Given the description of an element on the screen output the (x, y) to click on. 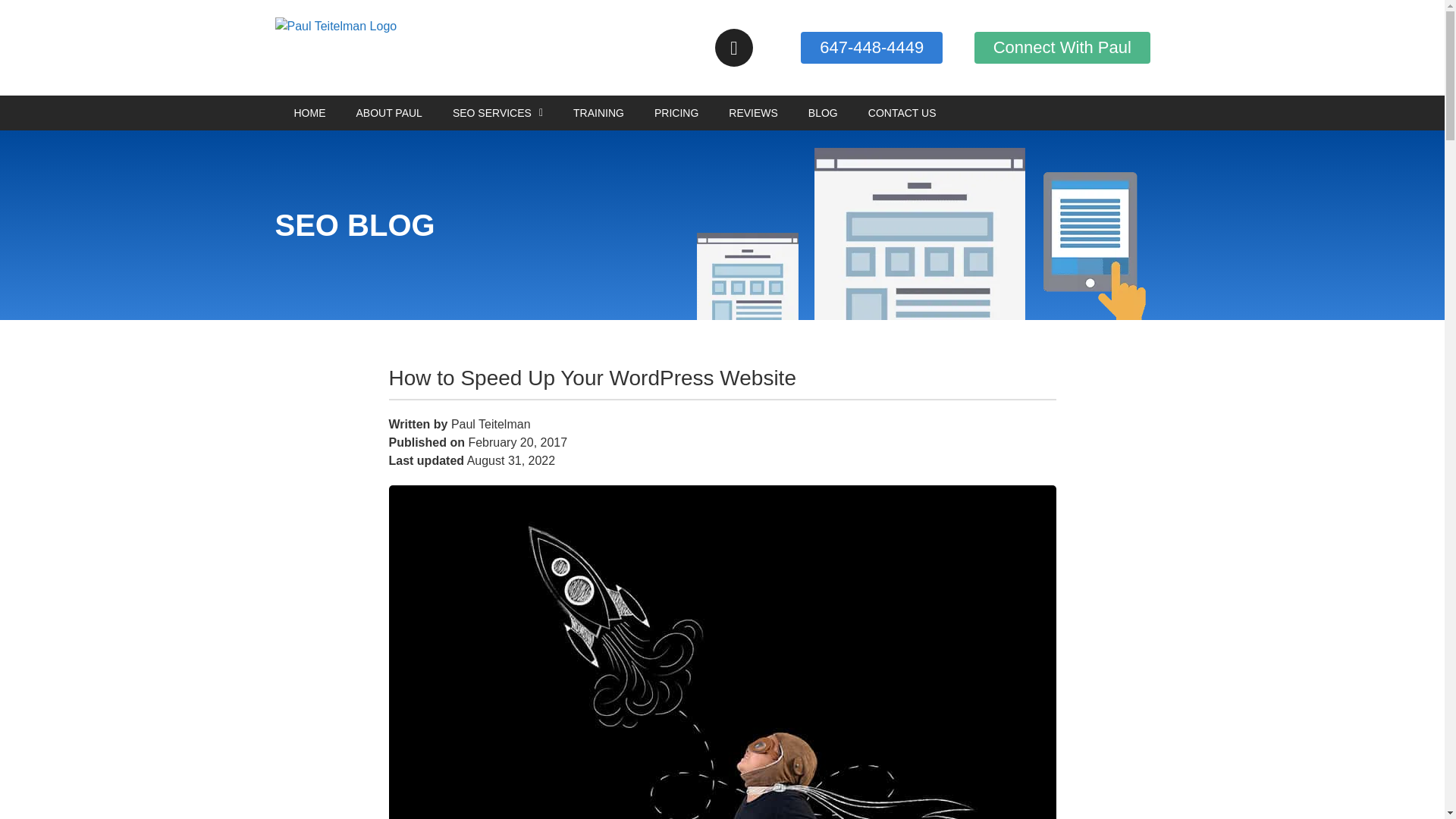
647-448-4449 (871, 47)
PRICING (676, 112)
HOME (309, 112)
SEO SERVICES (497, 112)
TRAINING (598, 112)
BLOG (823, 112)
CONTACT US (902, 112)
REVIEWS (753, 112)
ABOUT PAUL (389, 112)
Connect With Paul (1062, 47)
